Given the description of an element on the screen output the (x, y) to click on. 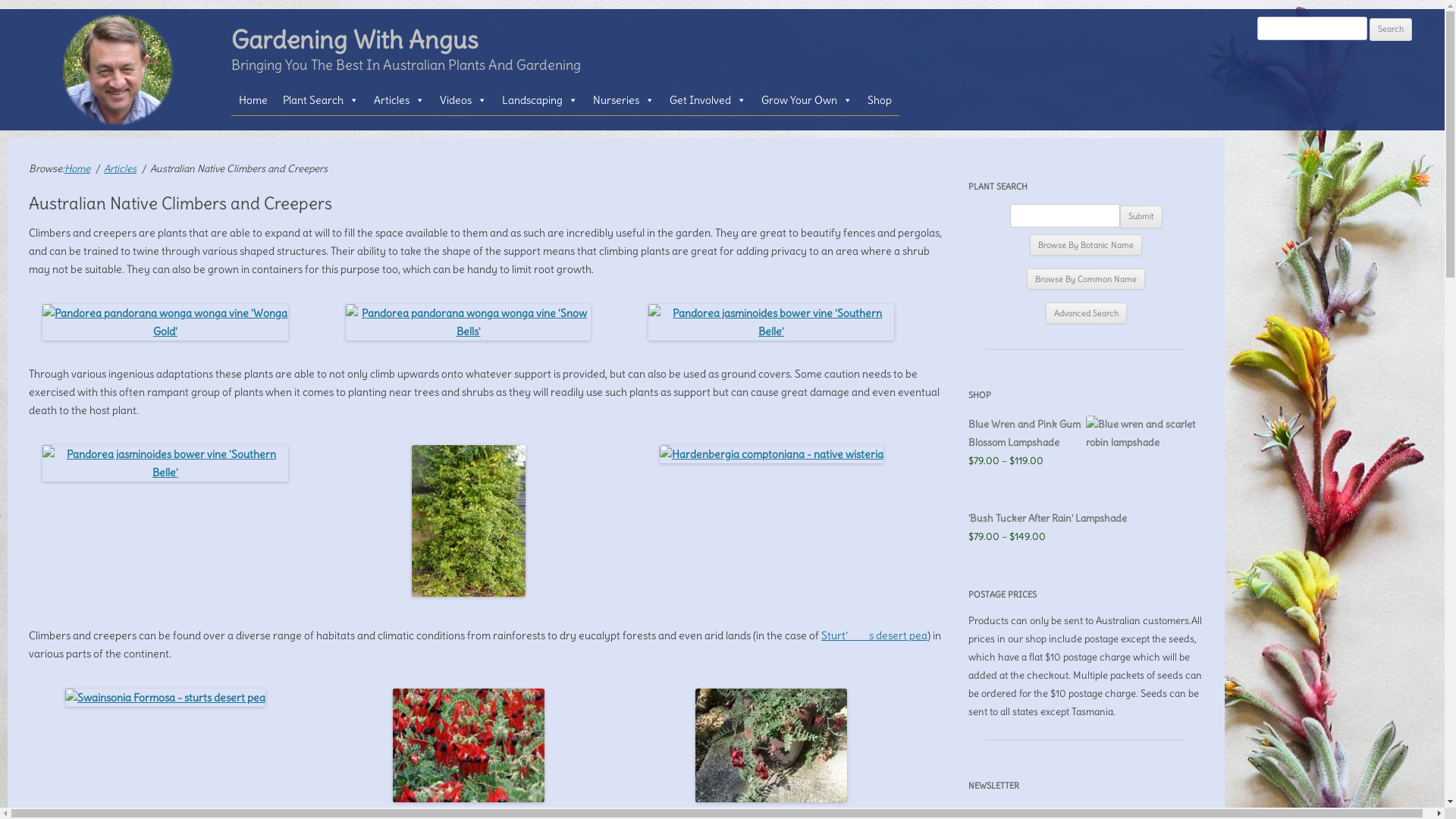
Browse By Botanic Name Element type: text (1085, 244)
Blue Wren and Pink Gum Blossom Lampshade Element type: text (1085, 433)
Advanced Search Element type: text (1085, 312)
Grow Your Own Element type: text (806, 99)
Get Involved Element type: text (707, 99)
Submit Element type: text (1141, 216)
Articles Element type: text (399, 99)
Gardening With Angus Element type: hover (117, 69)
Search Element type: text (1390, 29)
Skip to content Element type: text (565, 84)
Plant Search Element type: text (320, 99)
Landscaping Element type: text (539, 99)
Home Element type: text (77, 168)
Browse By Common Name Element type: text (1085, 278)
'Bush Tucker After Rain' Lampshade Element type: text (1085, 518)
Gardening With Angus Element type: text (354, 40)
Home Element type: text (253, 99)
Videos Element type: text (463, 99)
Nurseries Element type: text (623, 99)
Shop Element type: text (879, 99)
Articles Element type: text (119, 168)
